Given the description of an element on the screen output the (x, y) to click on. 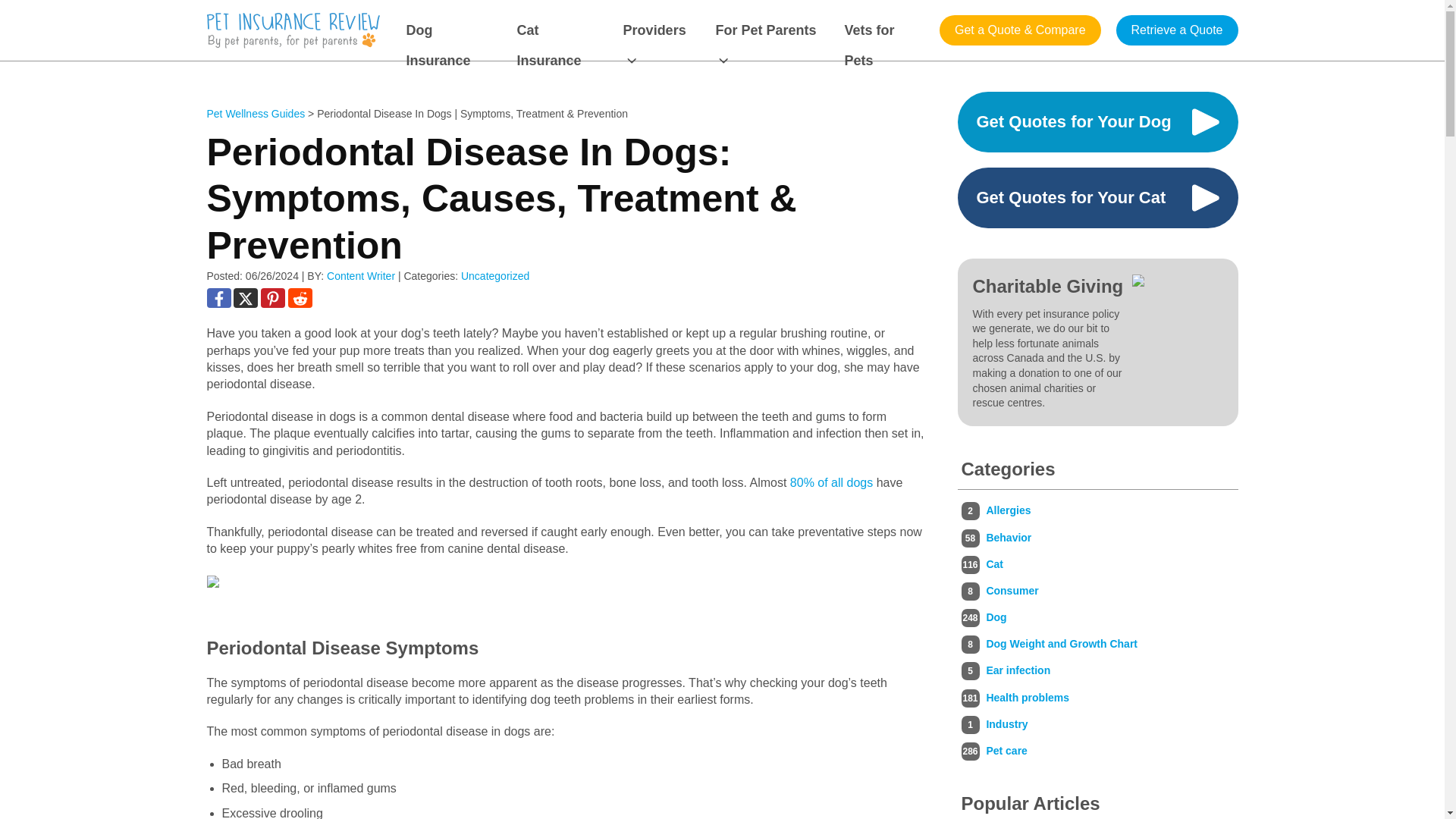
Cat Insurance (560, 30)
Dog Insurance (451, 30)
Providers (660, 30)
back to home (292, 30)
For Pet Parents (769, 30)
